Given the description of an element on the screen output the (x, y) to click on. 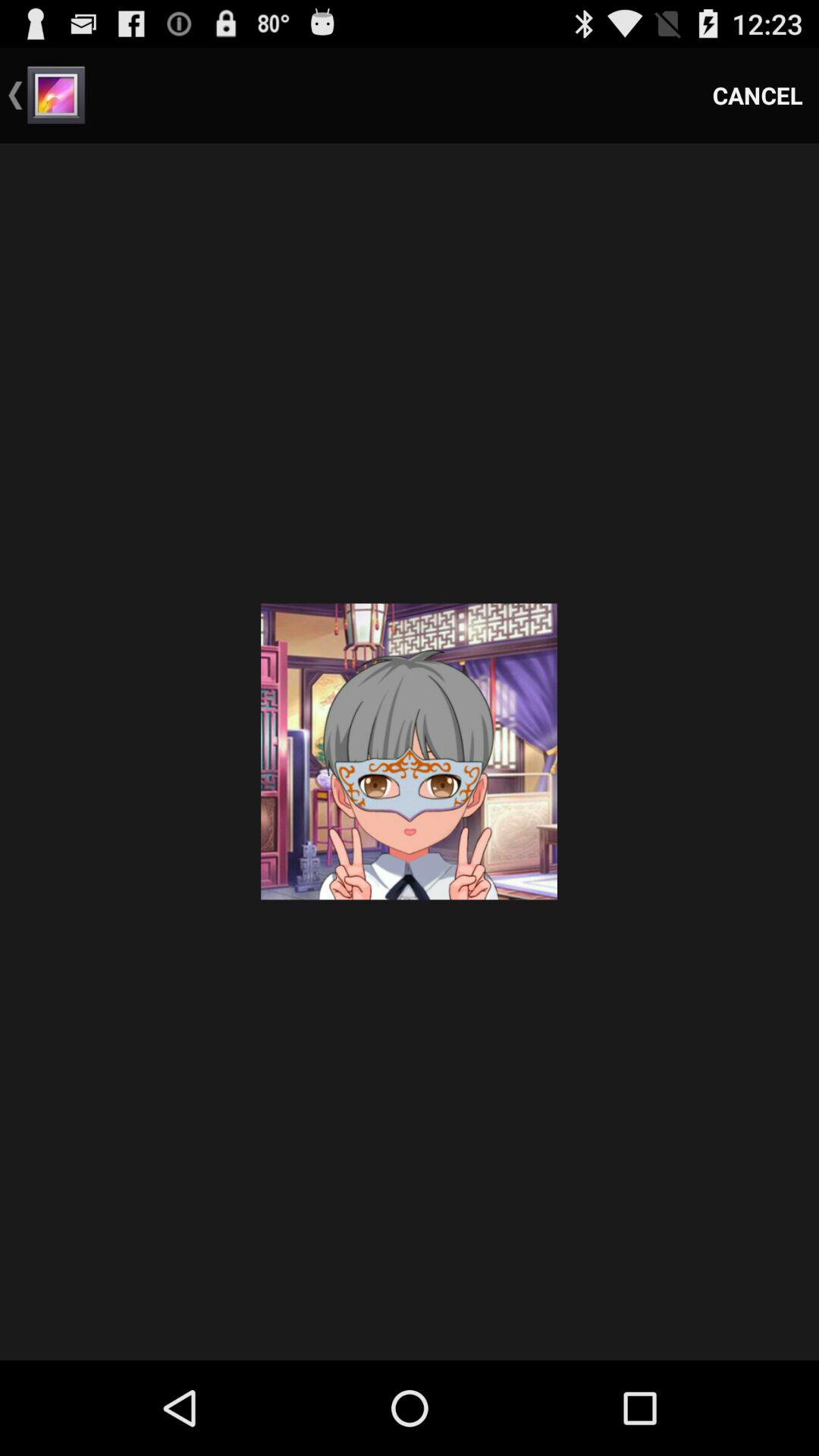
select cancel item (757, 95)
